Given the description of an element on the screen output the (x, y) to click on. 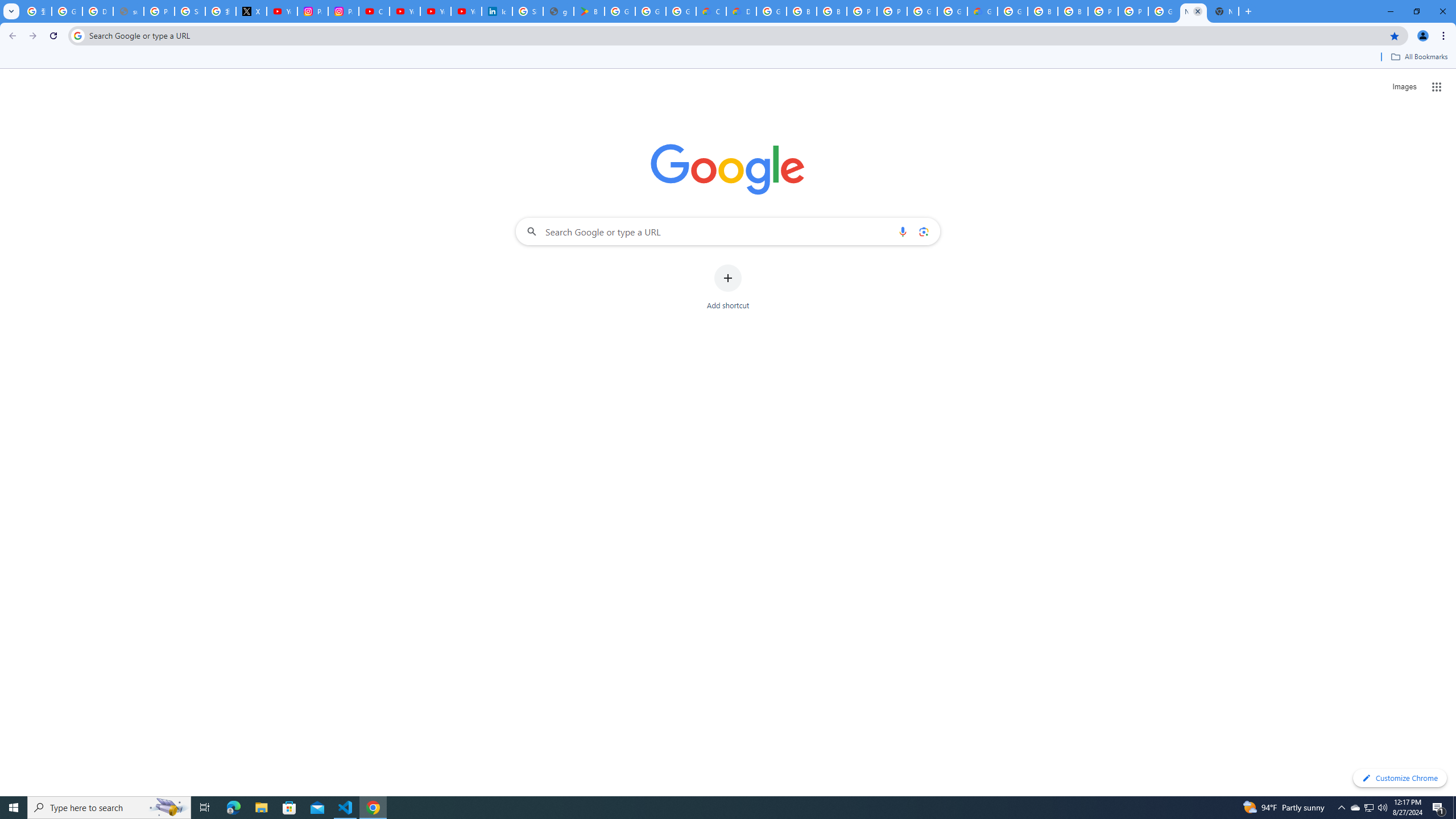
YouTube Culture & Trends - YouTube Top 10, 2021 (434, 11)
Google Cloud Platform (922, 11)
All Bookmarks (1418, 56)
Customize Chrome (1399, 778)
Search by image (922, 230)
Browse Chrome as a guest - Computer - Google Chrome Help (801, 11)
